Given the description of an element on the screen output the (x, y) to click on. 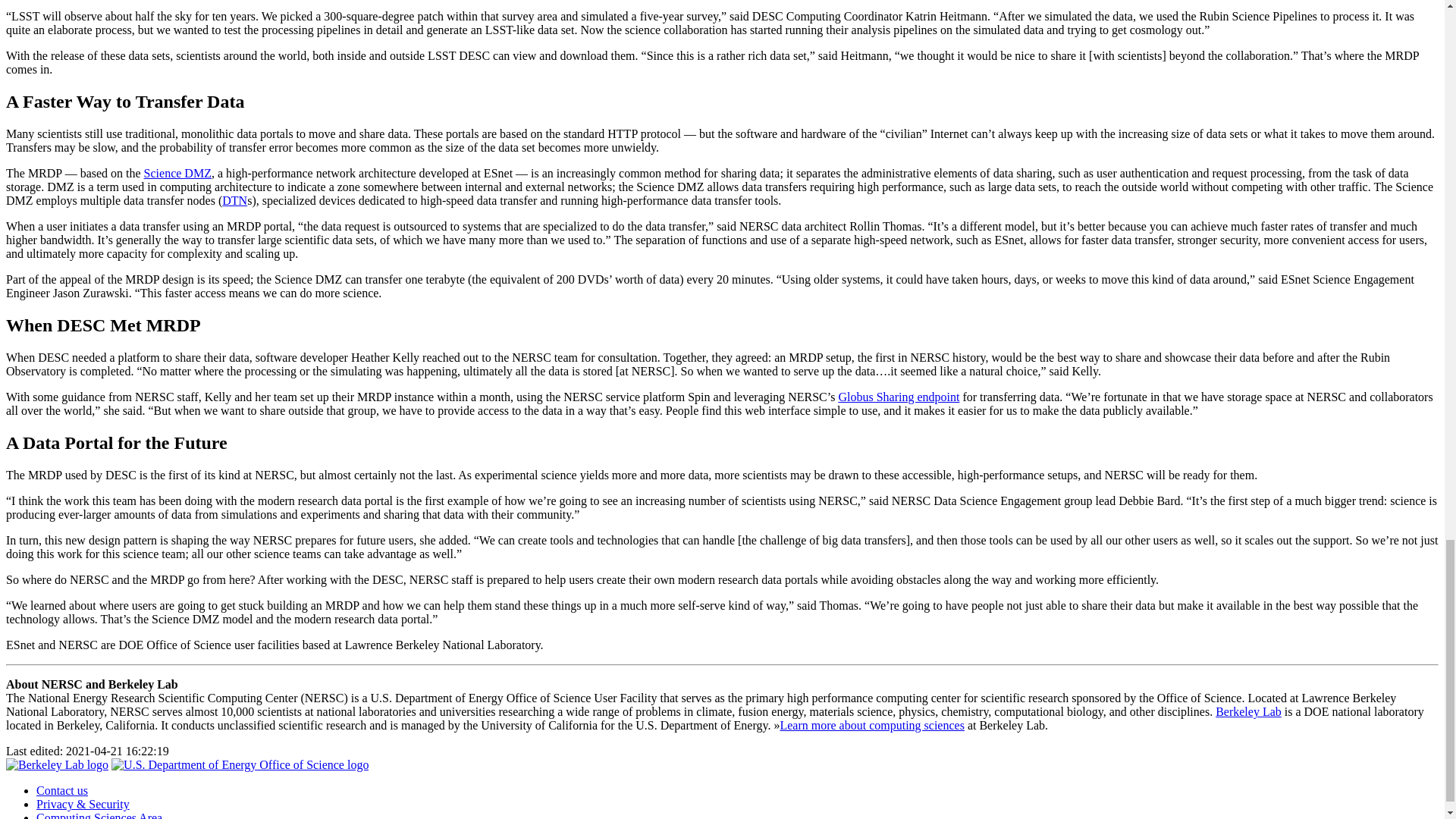
NERSC Globus documentation (898, 396)
